Given the description of an element on the screen output the (x, y) to click on. 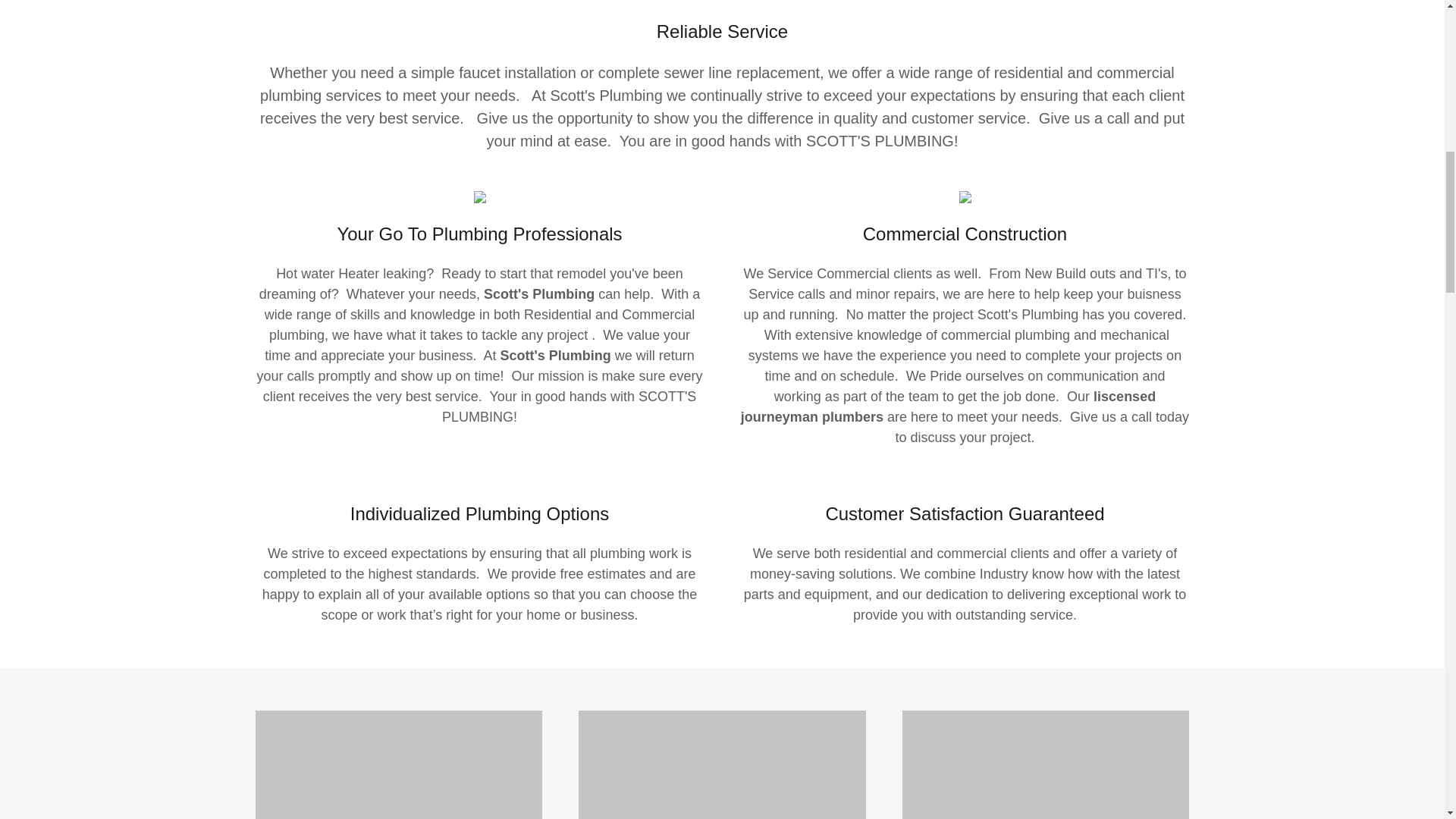
ACCEPT (1274, 324)
